Given the description of an element on the screen output the (x, y) to click on. 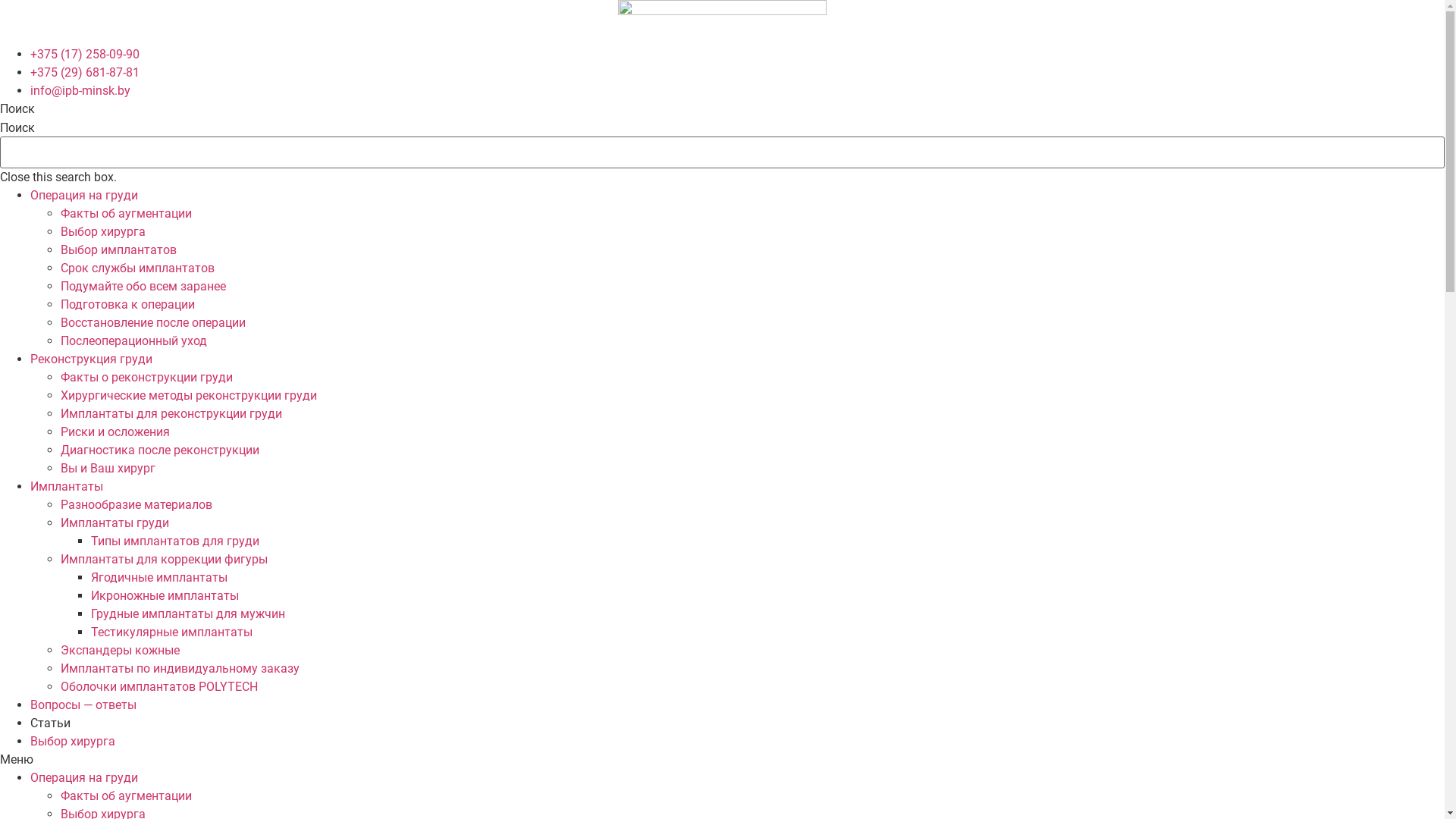
+375 (29) 681-87-81 Element type: text (84, 72)
+375 (17) 258-09-90 Element type: text (84, 54)
info@ipb-minsk.by Element type: text (80, 90)
